Given the description of an element on the screen output the (x, y) to click on. 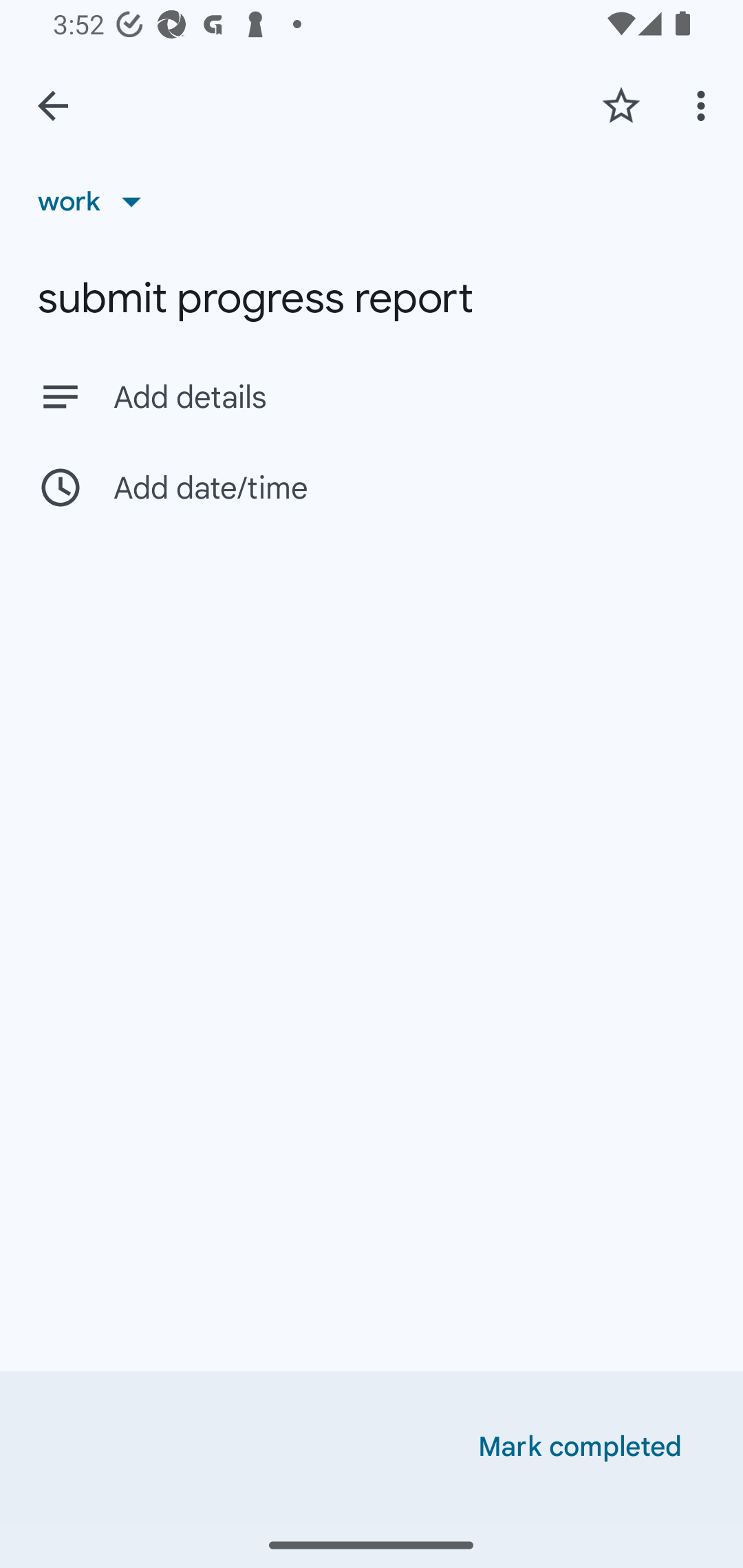
Back (53, 105)
Add star (620, 105)
More options (704, 105)
work List, work selected, 1 of 11 (95, 201)
submit progress report (371, 298)
Add details (371, 396)
Add details (409, 397)
Add date/time (371, 487)
Mark completed (580, 1446)
